Given the description of an element on the screen output the (x, y) to click on. 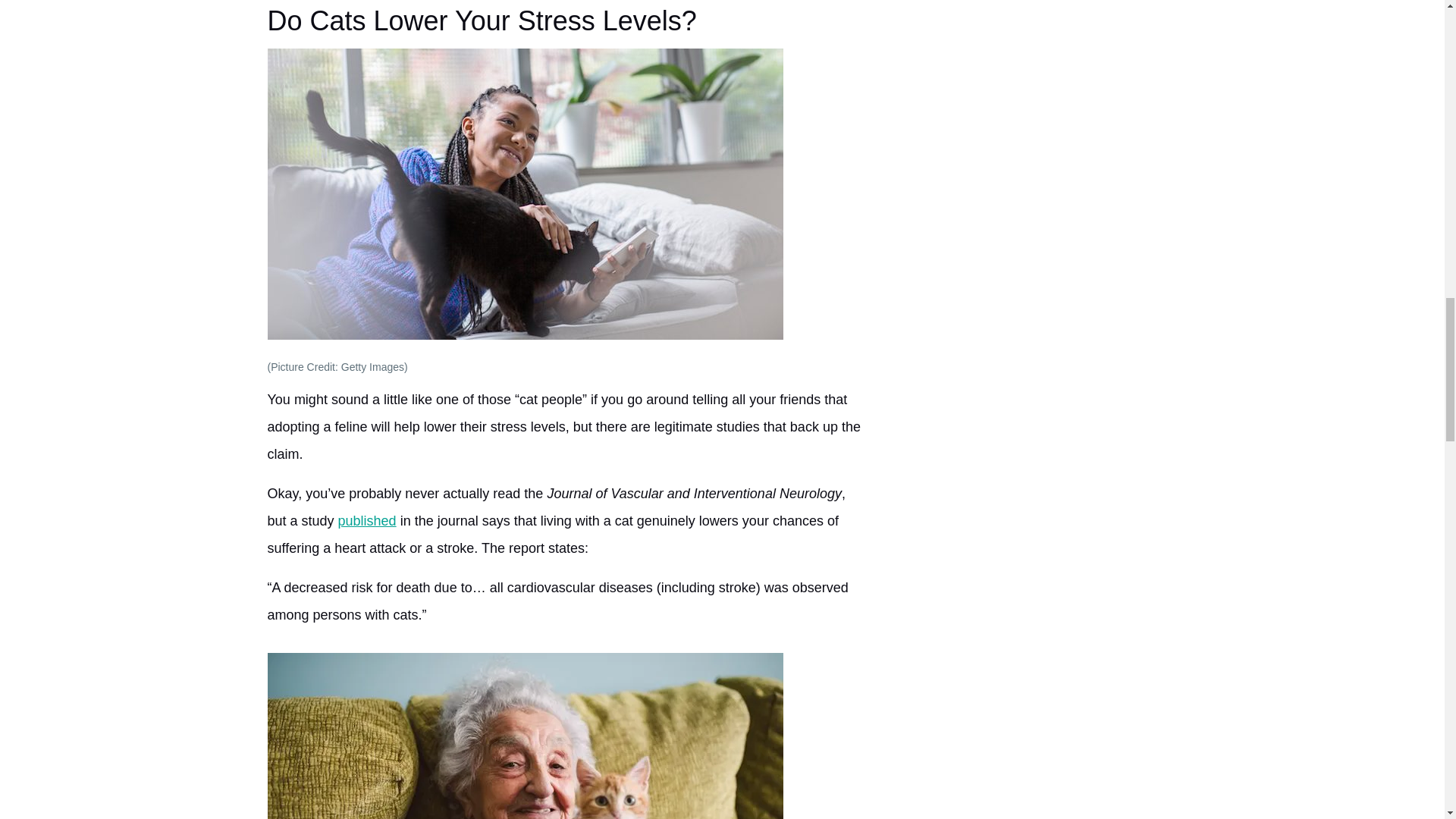
published (366, 520)
